Given the description of an element on the screen output the (x, y) to click on. 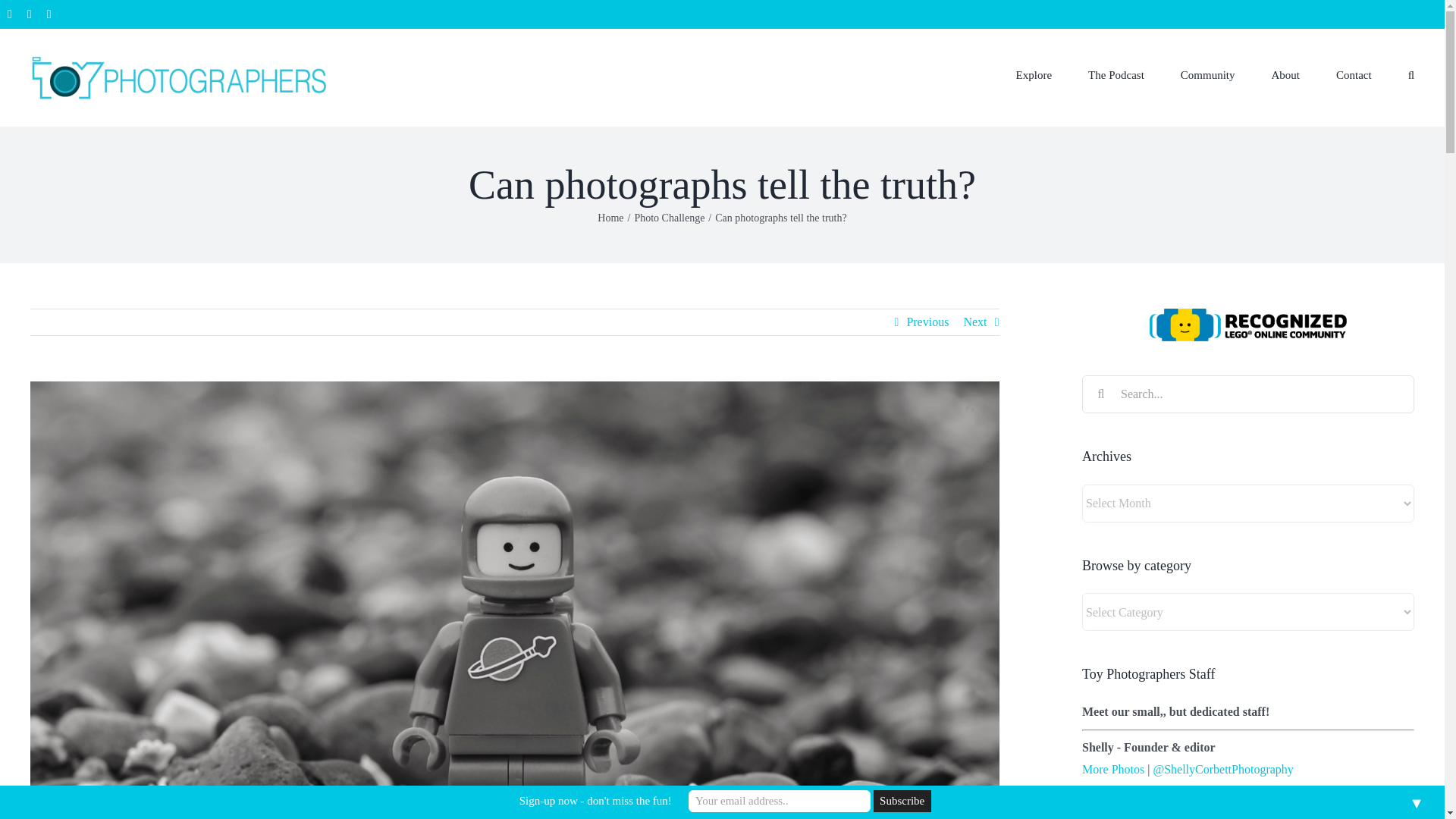
Explore (1033, 73)
Facebook (9, 14)
Contact (1353, 73)
About (1285, 73)
The Podcast (1115, 73)
Community (1207, 73)
X (29, 14)
Instagram (48, 14)
Subscribe (902, 801)
